Given the description of an element on the screen output the (x, y) to click on. 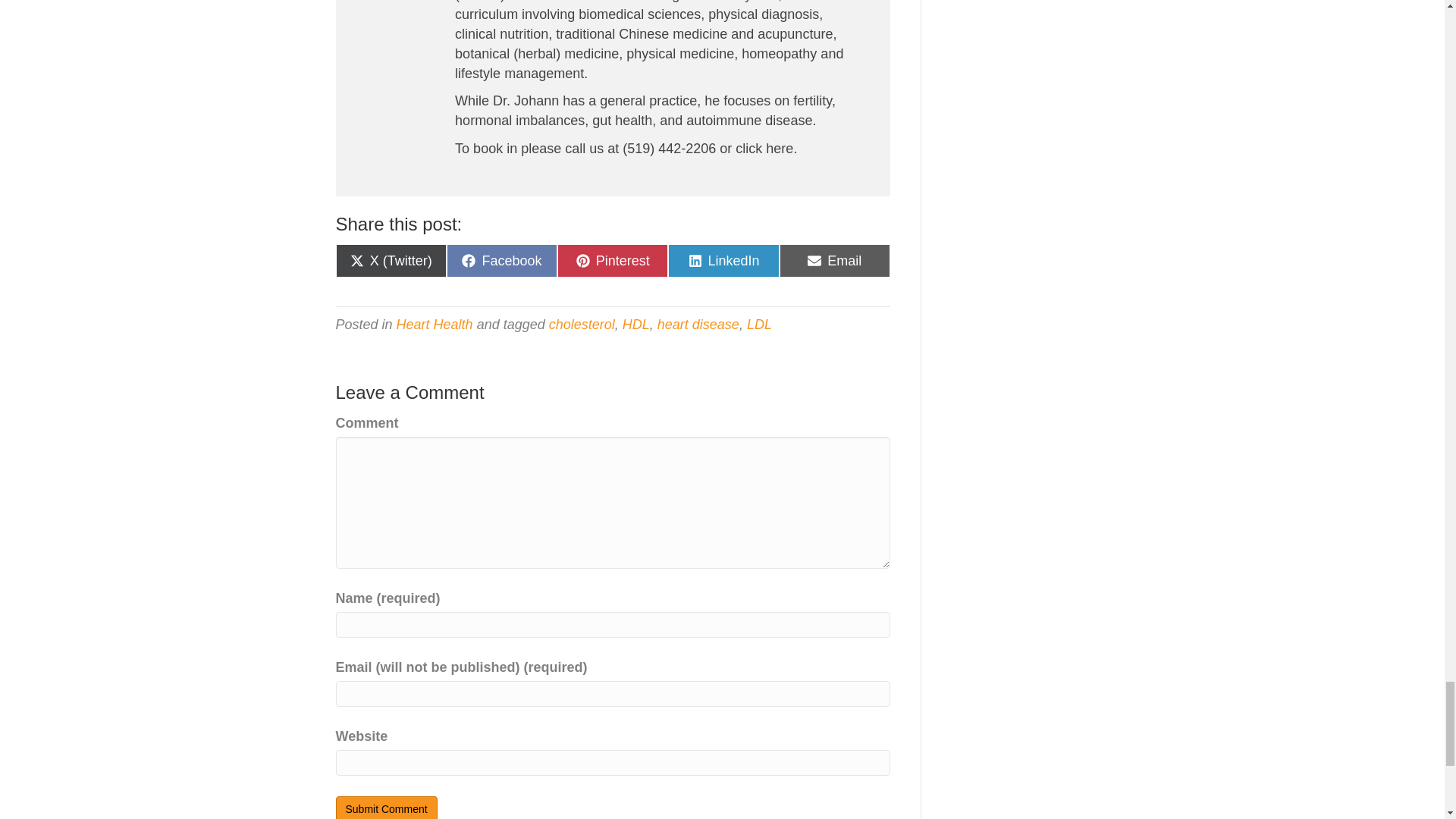
Submit Comment (385, 807)
